Given the description of an element on the screen output the (x, y) to click on. 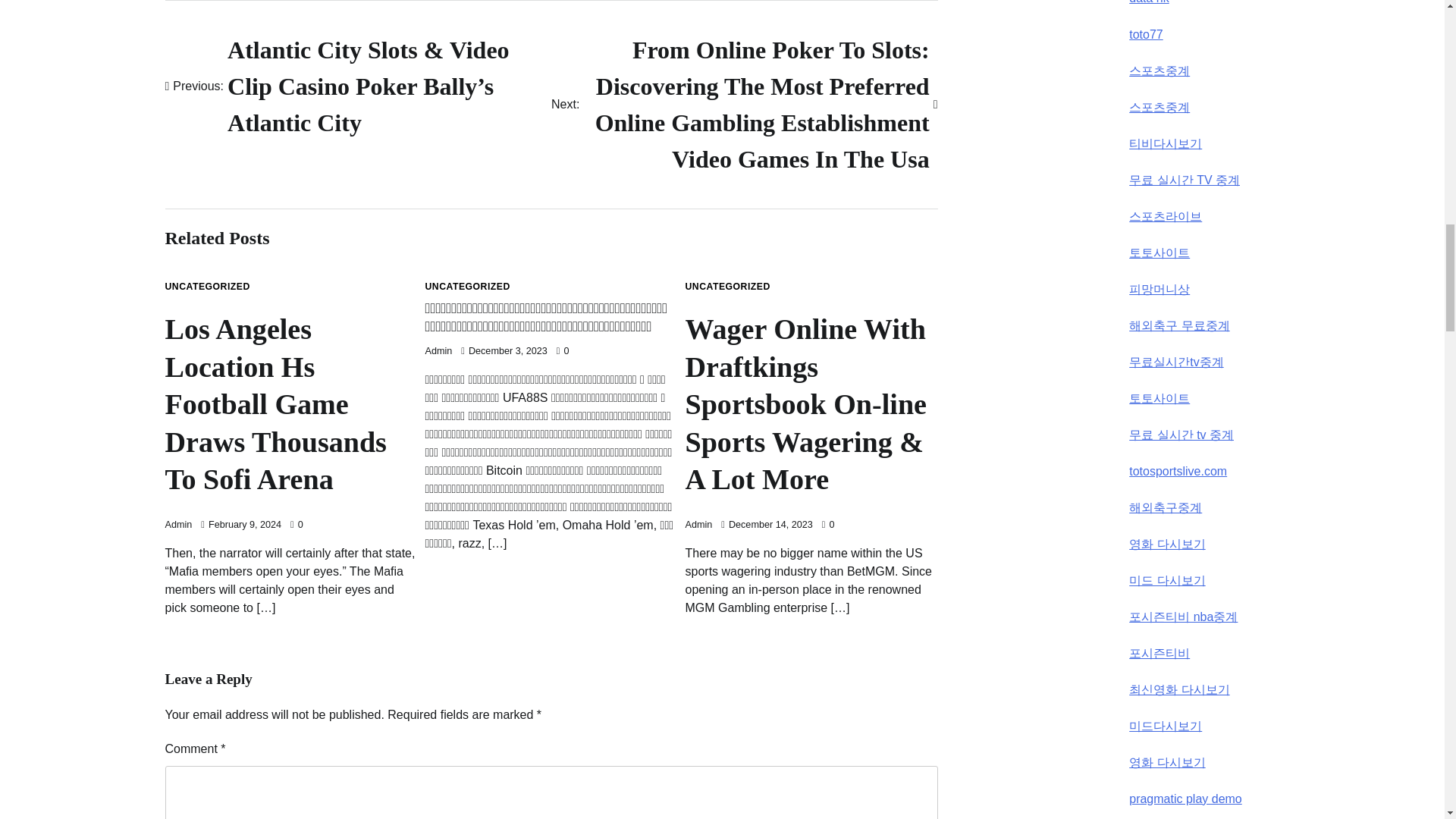
UNCATEGORIZED (207, 286)
UNCATEGORIZED (467, 286)
UNCATEGORIZED (727, 286)
Admin (178, 524)
Admin (438, 350)
Admin (699, 524)
